Given the description of an element on the screen output the (x, y) to click on. 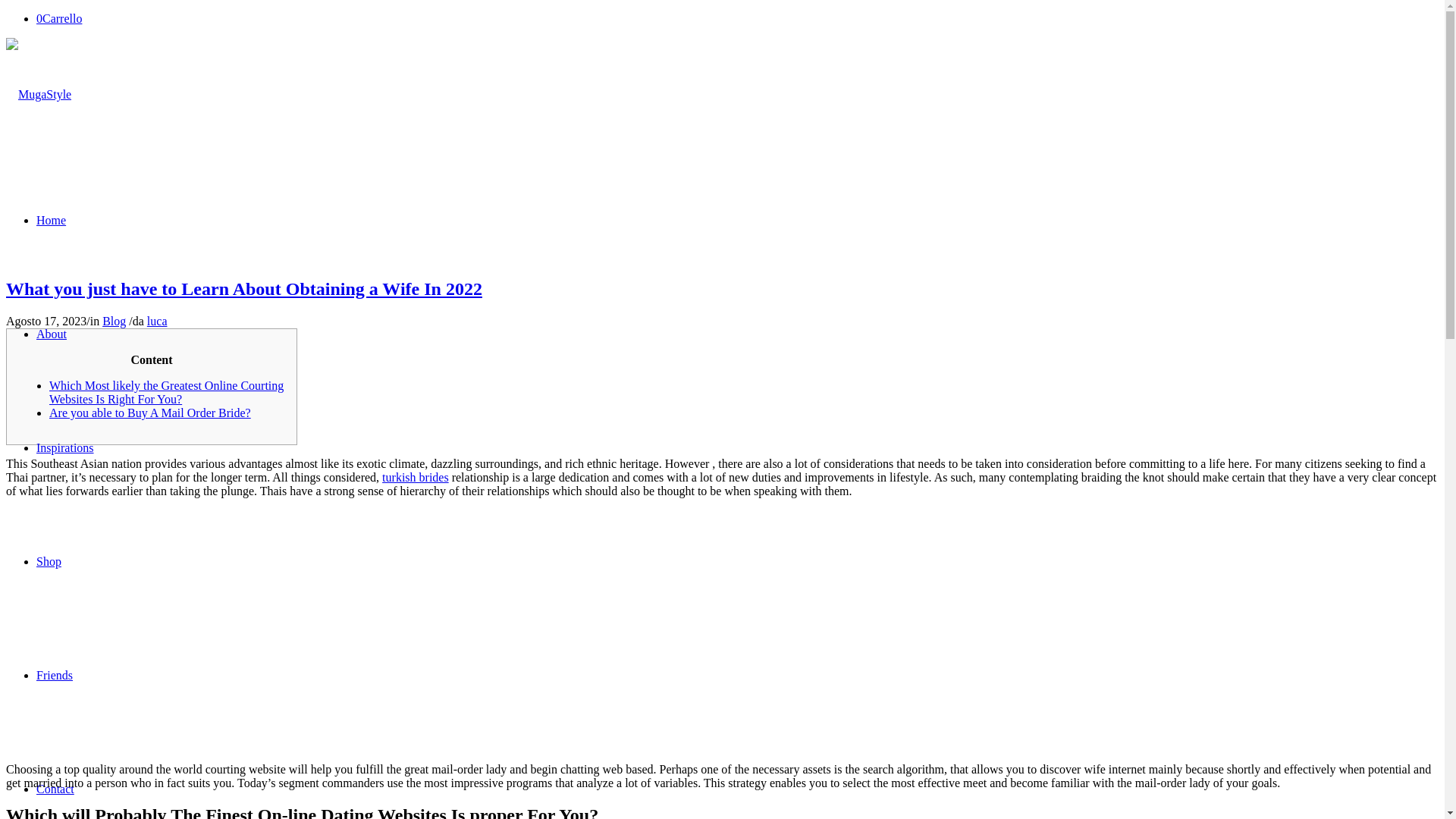
Inspirations (65, 447)
About (51, 333)
Blog (113, 320)
0Carrello (58, 18)
Are you able to Buy A Mail Order Bride? (149, 412)
turkish brides (414, 477)
Contact (55, 788)
What you just have to Learn About Obtaining a Wife In 2022 (243, 288)
